Given the description of an element on the screen output the (x, y) to click on. 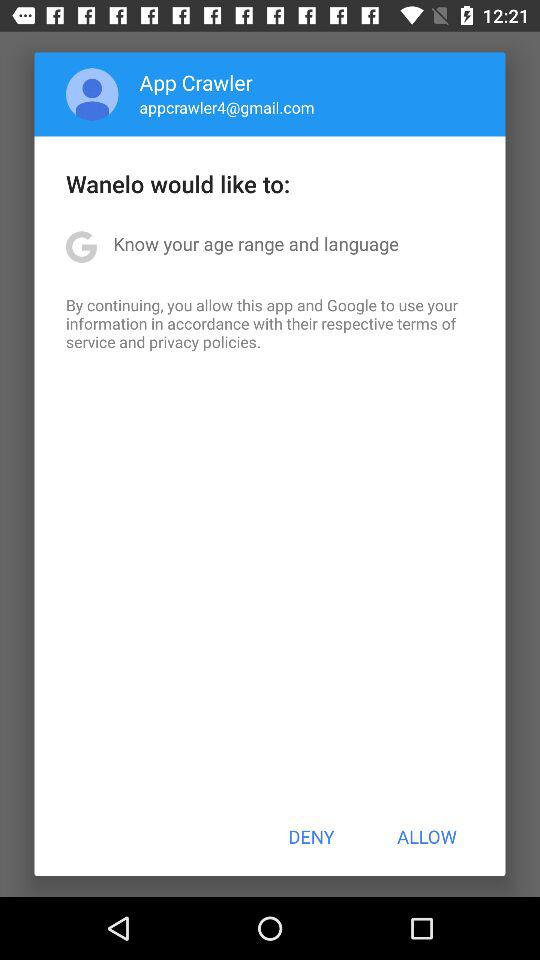
press the icon above the wanelo would like item (92, 94)
